Given the description of an element on the screen output the (x, y) to click on. 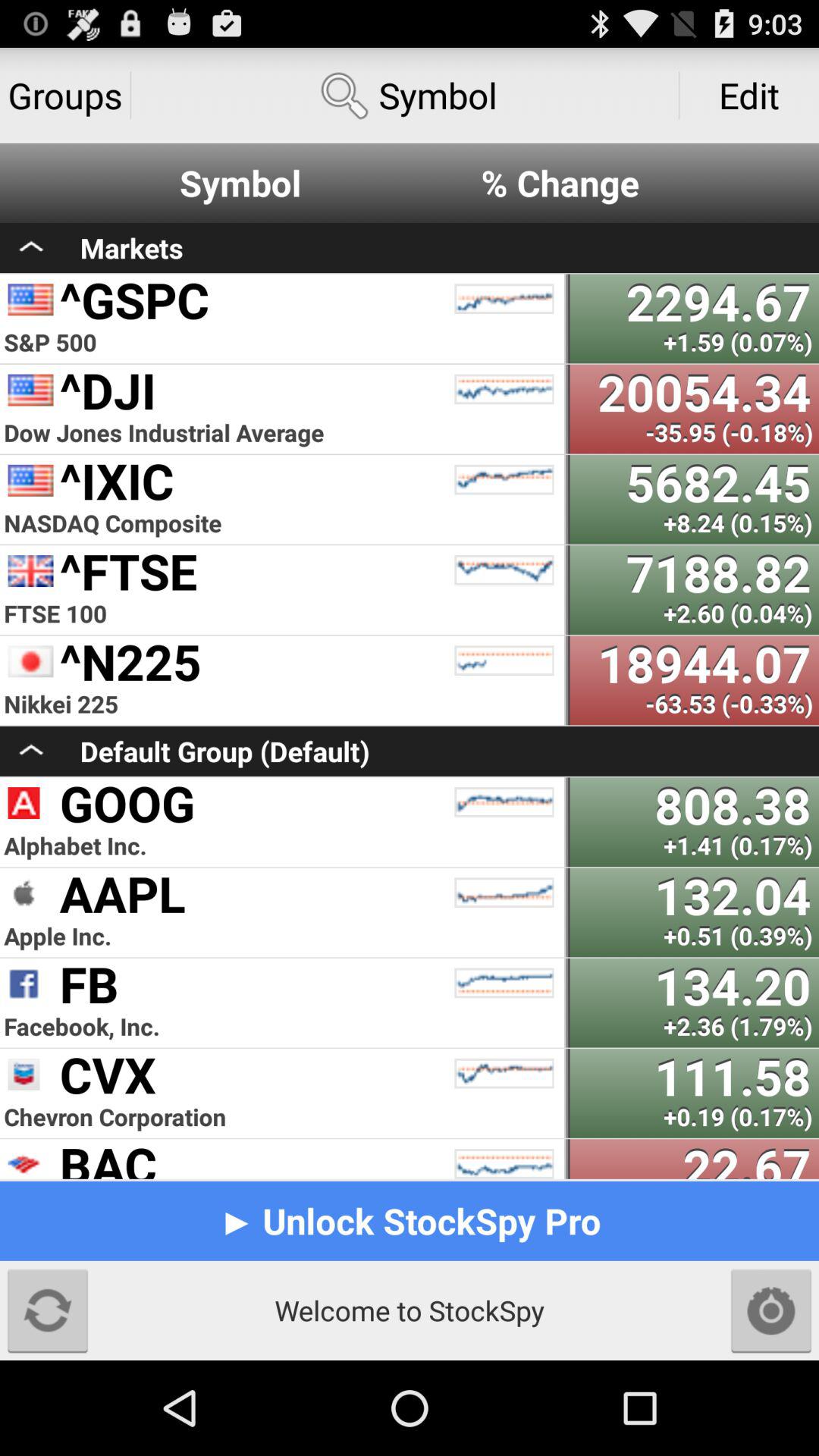
settings (771, 1310)
